Given the description of an element on the screen output the (x, y) to click on. 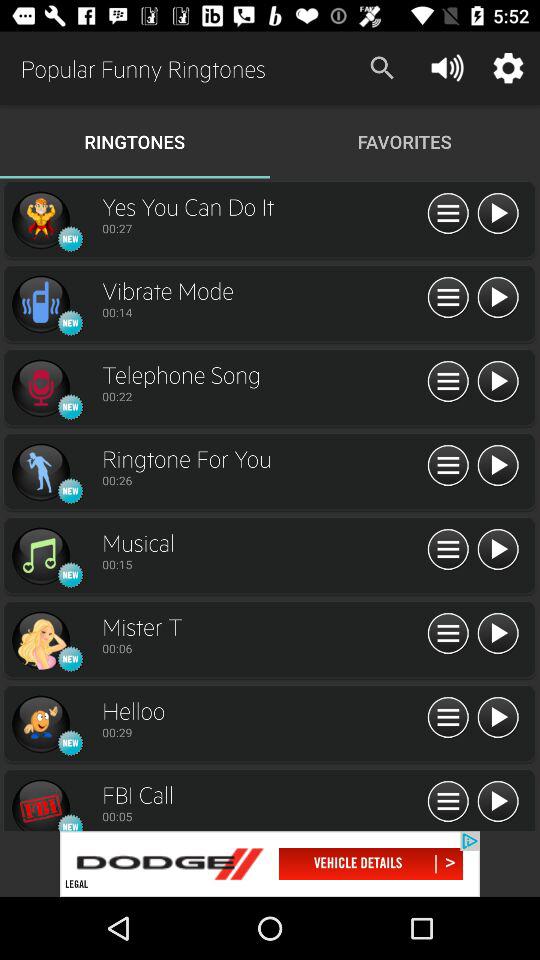
preview song (40, 804)
